Given the description of an element on the screen output the (x, y) to click on. 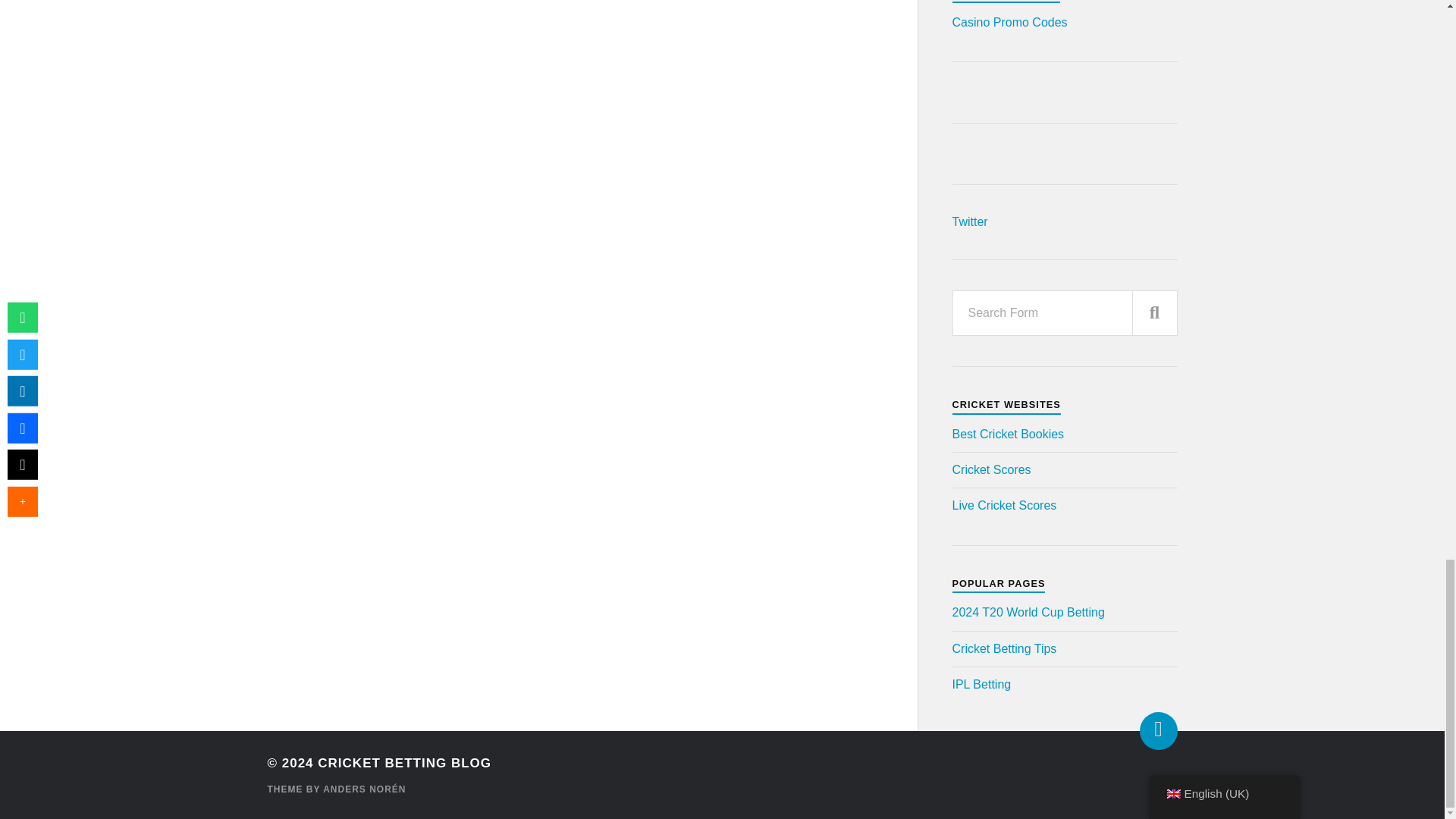
Latest Free Cricket Betting Tips (1004, 648)
Find The Top Paying Casino Welcome Bonuses  (1009, 21)
Betting Guide to 2024 T20 World Cup (1028, 612)
All you need to know about betting on 2024 IPL (981, 684)
